Given the description of an element on the screen output the (x, y) to click on. 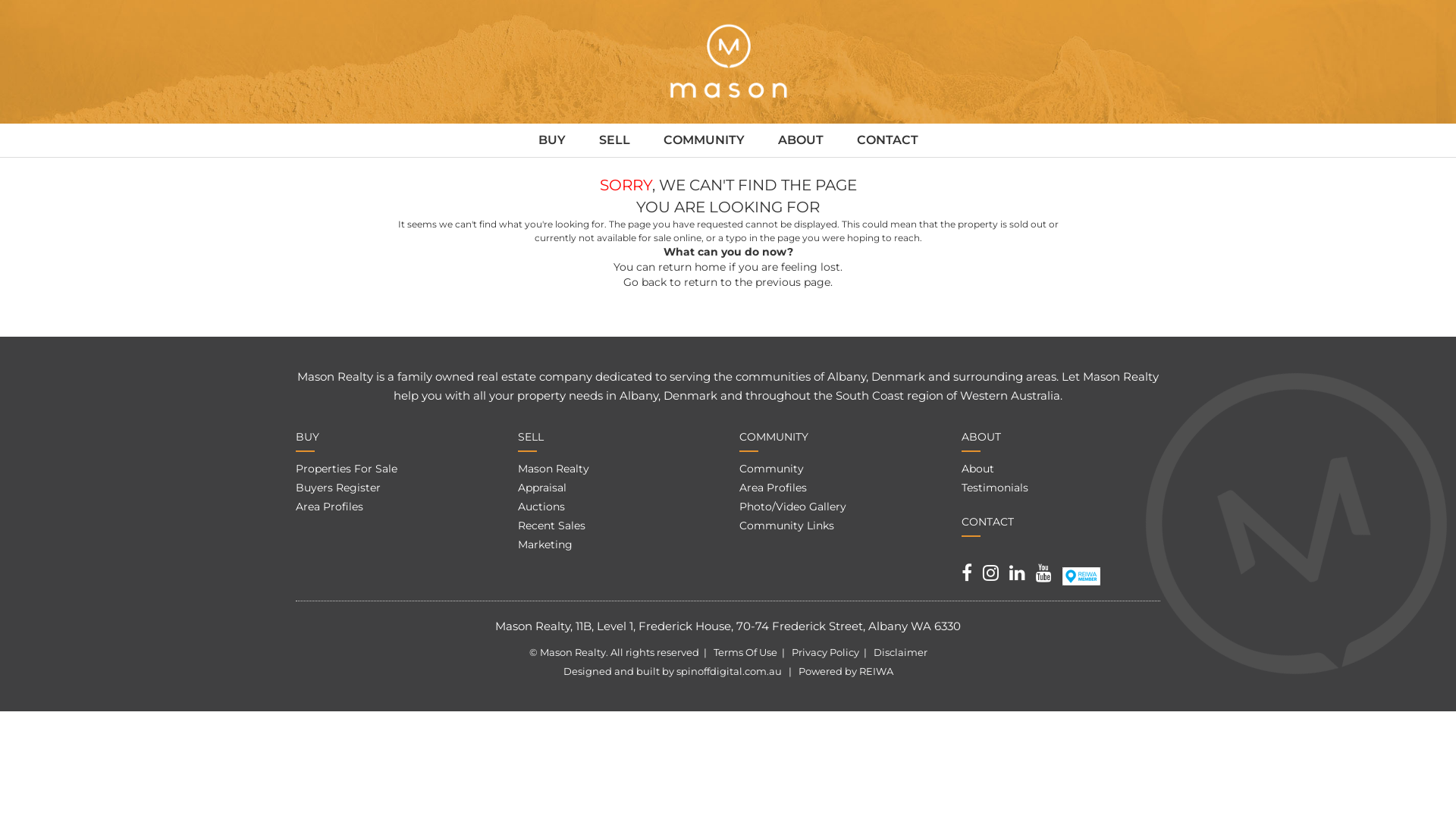
previous page Element type: text (792, 281)
Community Links Element type: text (786, 525)
SELL Element type: text (614, 139)
Properties For Sale Element type: text (346, 468)
ABOUT Element type: text (800, 139)
CONTACT Element type: text (887, 139)
Community Element type: text (771, 468)
Testimonials Element type: text (994, 487)
Terms Of Use Element type: text (744, 652)
CONTACT Element type: text (987, 521)
Mason Realty | Albany Real Estate Agent Element type: hover (727, 61)
Mason Realty Element type: text (552, 468)
About Element type: text (977, 468)
Marketing Element type: text (544, 544)
Recent Sales Element type: text (550, 525)
Photo/Video Gallery Element type: text (792, 506)
Buyers Register Element type: text (337, 487)
home Element type: text (709, 266)
COMMUNITY Element type: text (703, 139)
Disclaimer Element type: text (900, 652)
Appraisal Element type: text (541, 487)
spinoffdigital.com.au Element type: text (728, 671)
Privacy Policy Element type: text (825, 652)
REIWA Element type: text (875, 671)
Area Profiles Element type: text (329, 506)
Auctions Element type: text (540, 506)
Area Profiles Element type: text (772, 487)
BUY Element type: text (551, 139)
